Given the description of an element on the screen output the (x, y) to click on. 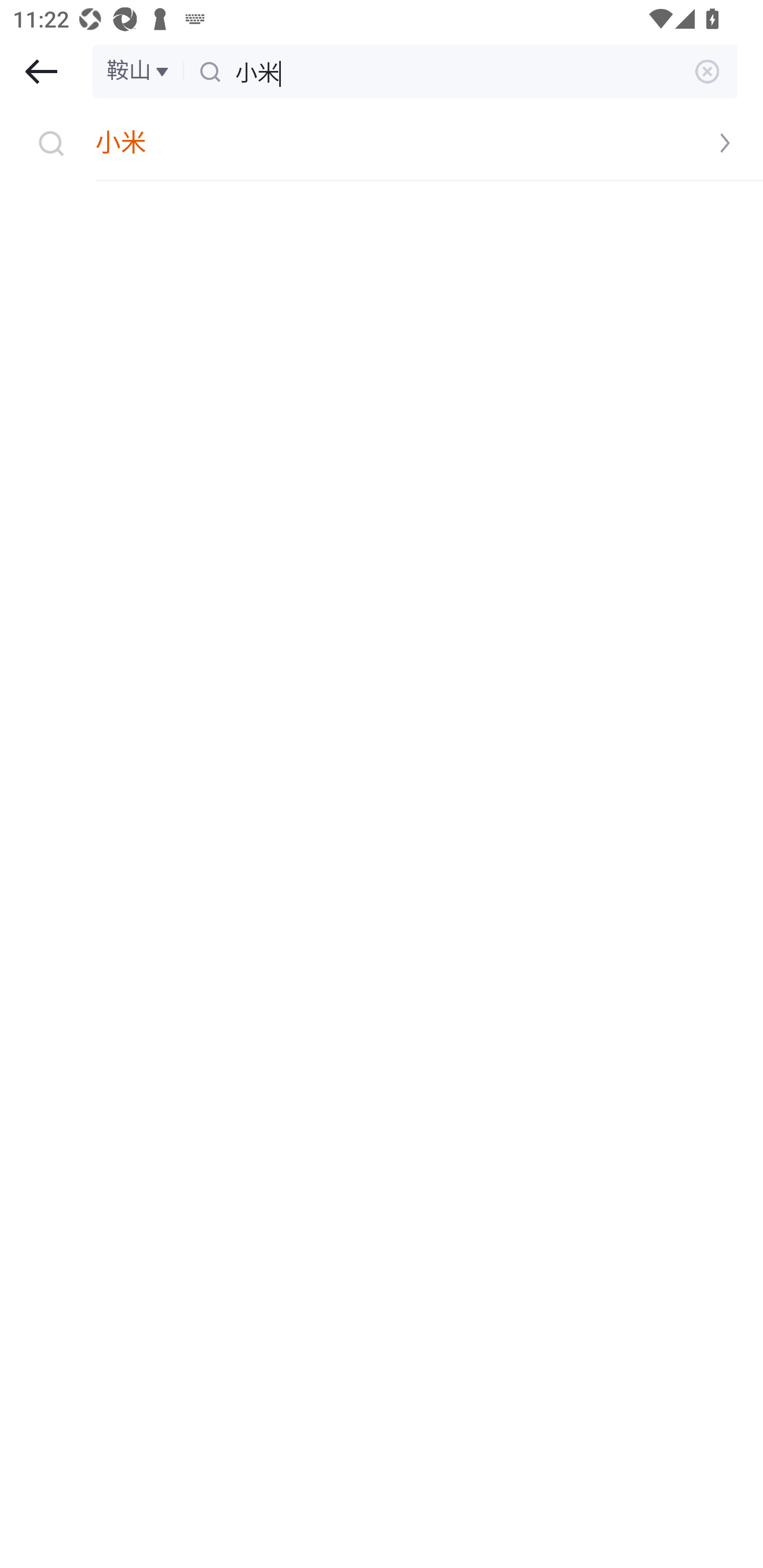
鞍山 (139, 70)
小米 (381, 144)
